Given the description of an element on the screen output the (x, y) to click on. 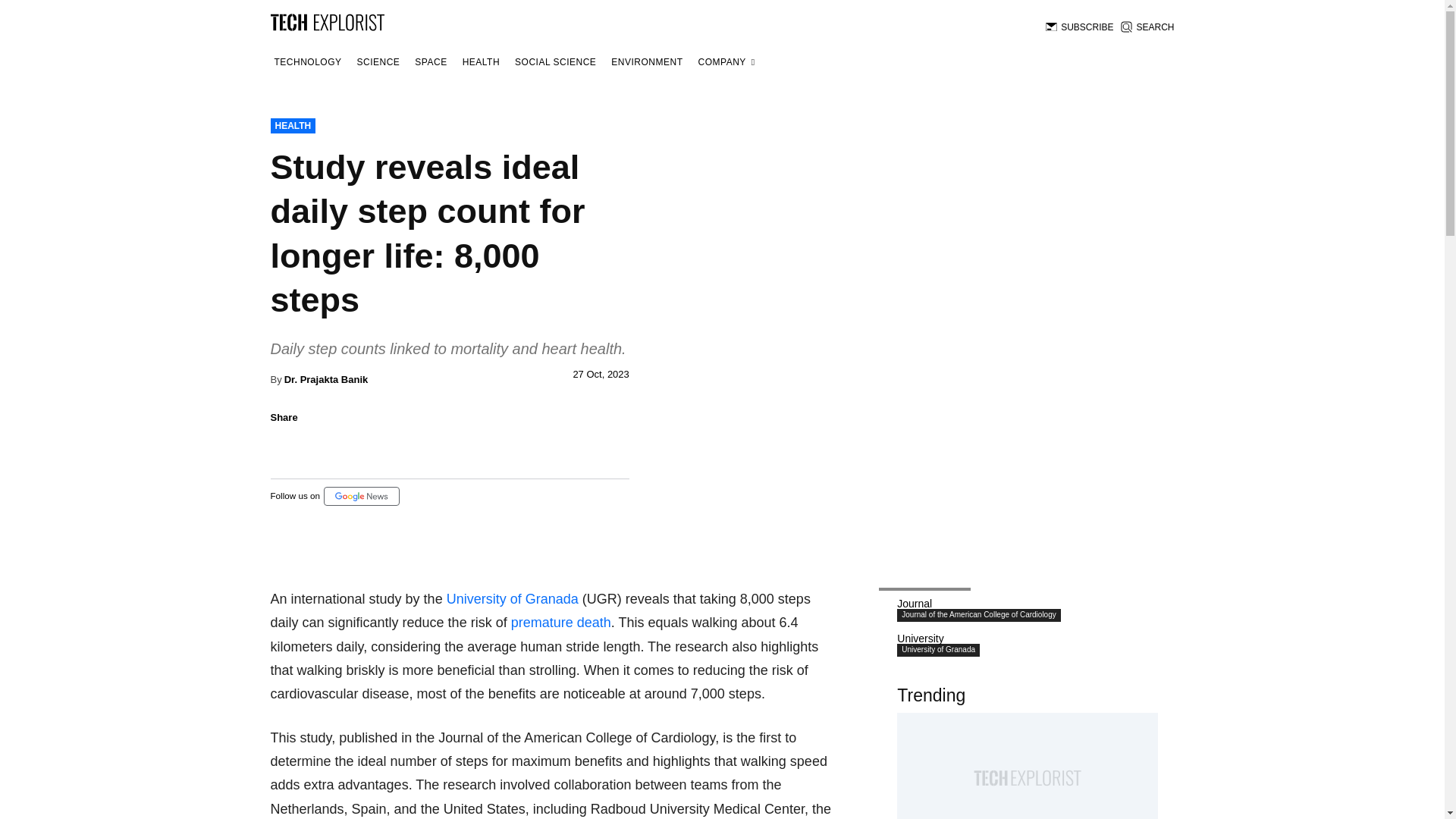
SCIENCE (378, 62)
ENVIRONMENT (646, 62)
SUBSCRIBE (1079, 26)
Health (480, 62)
Tech Explorist (326, 21)
SEARCH (1147, 26)
HEALTH (480, 62)
COMPANY (726, 62)
SUBSCRIBE (1079, 26)
HEALTH (292, 125)
TECHNOLOGY (307, 62)
University of Granada (512, 598)
Dr. Prajakta Banik (325, 379)
Technology (307, 62)
premature death (561, 622)
